Given the description of an element on the screen output the (x, y) to click on. 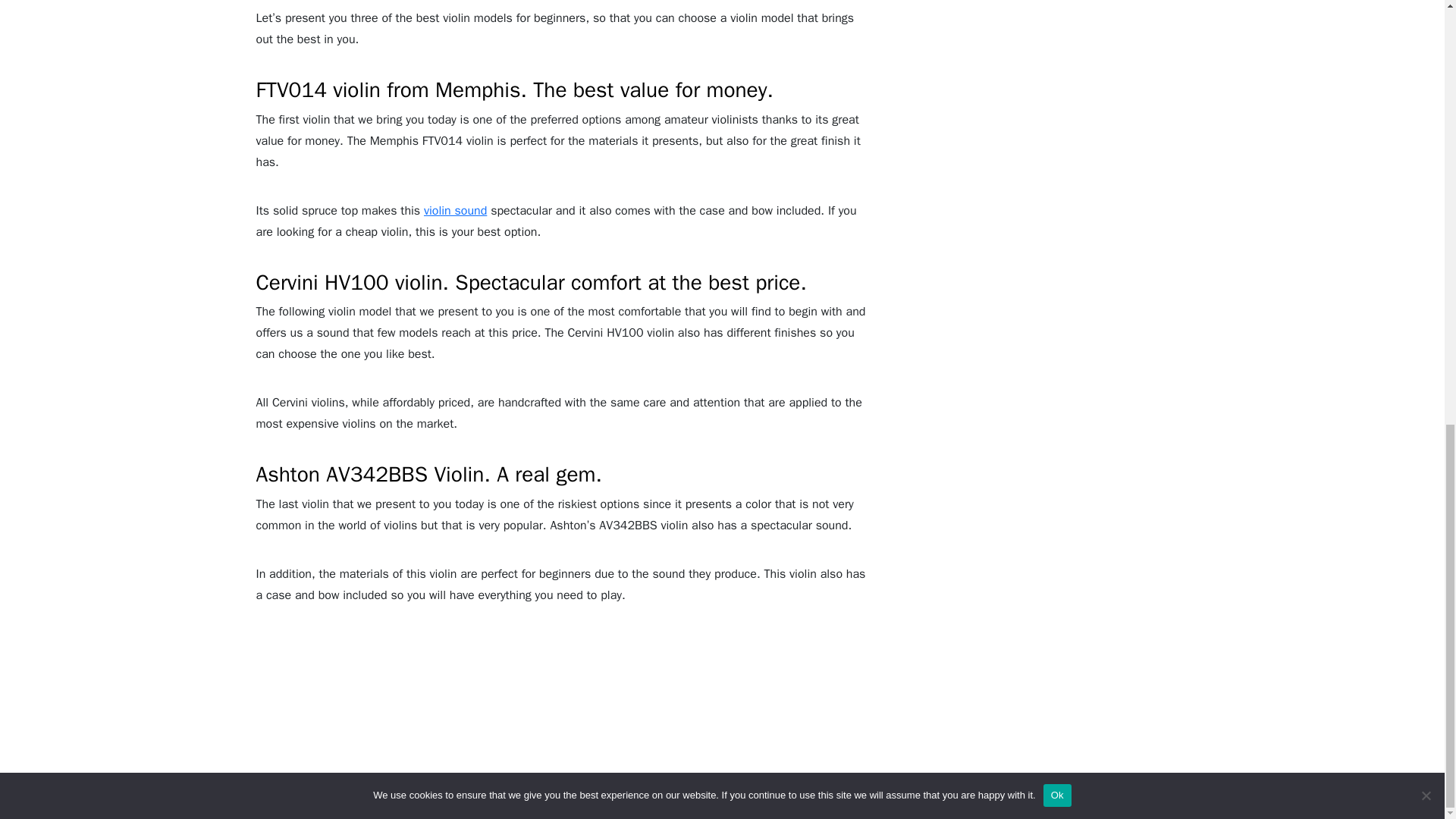
About (479, 761)
Lifestyle (534, 761)
violin sound (454, 210)
Home (429, 761)
Privacy Policy (737, 761)
Disclaimer (942, 761)
Business (657, 761)
Finance (595, 761)
Contact (1009, 761)
